Given the description of an element on the screen output the (x, y) to click on. 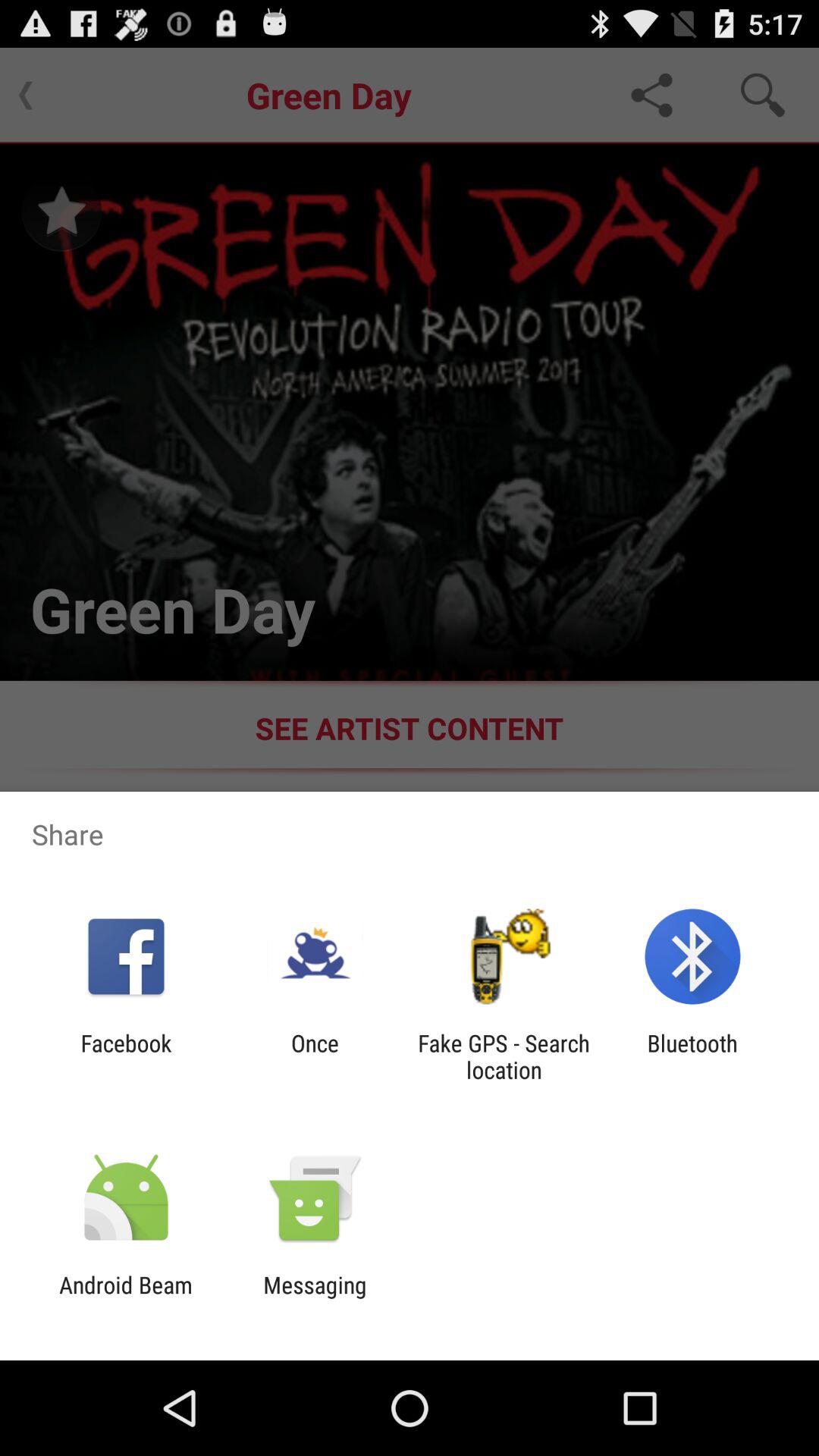
choose the app next to fake gps search item (692, 1056)
